Given the description of an element on the screen output the (x, y) to click on. 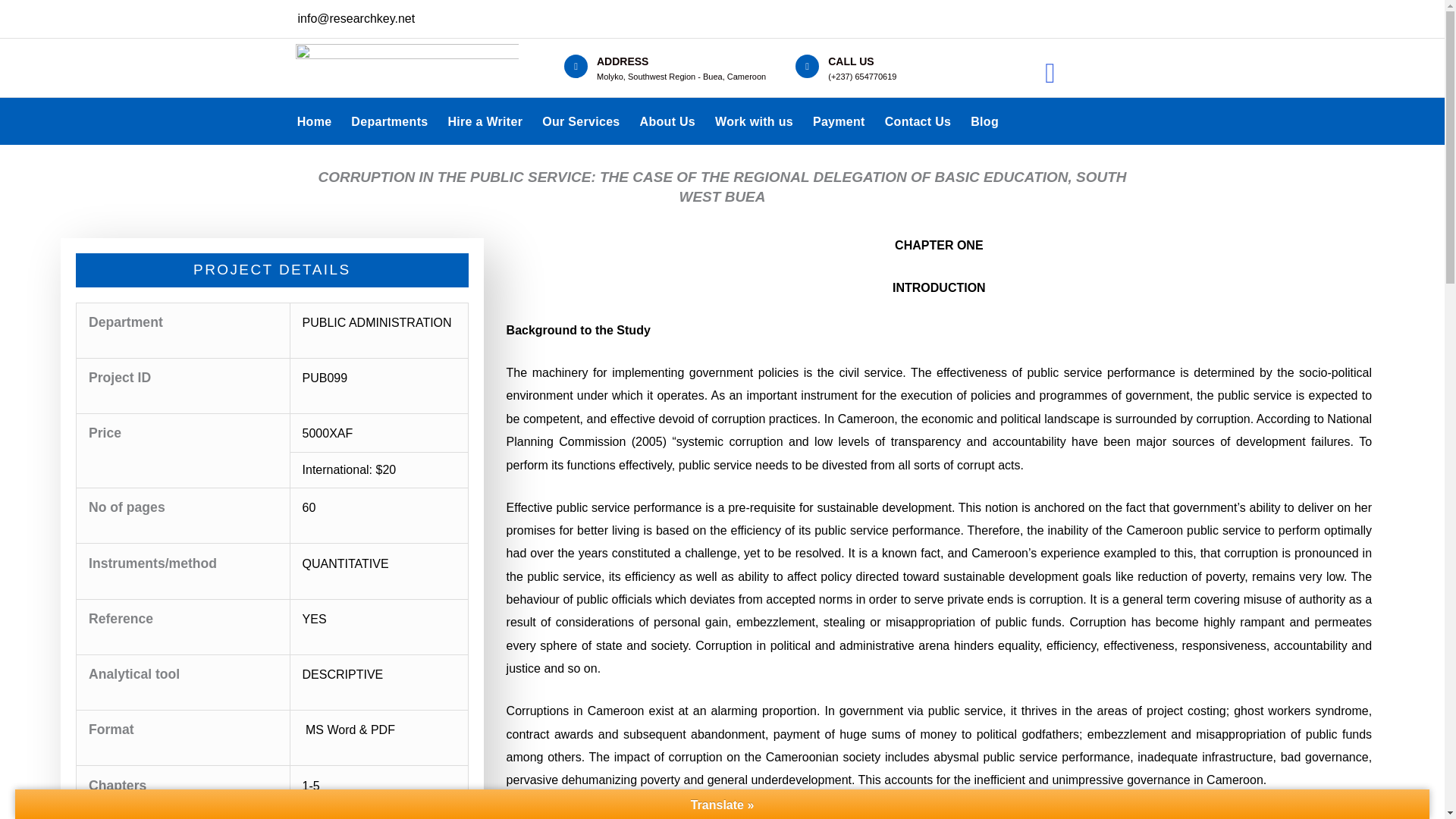
Home (314, 122)
Departments (389, 122)
Our Services (580, 122)
Hire a Writer (485, 122)
About Us (668, 122)
Payment (839, 122)
Contact Us (917, 122)
Blog (984, 122)
Work with us (753, 122)
